Given the description of an element on the screen output the (x, y) to click on. 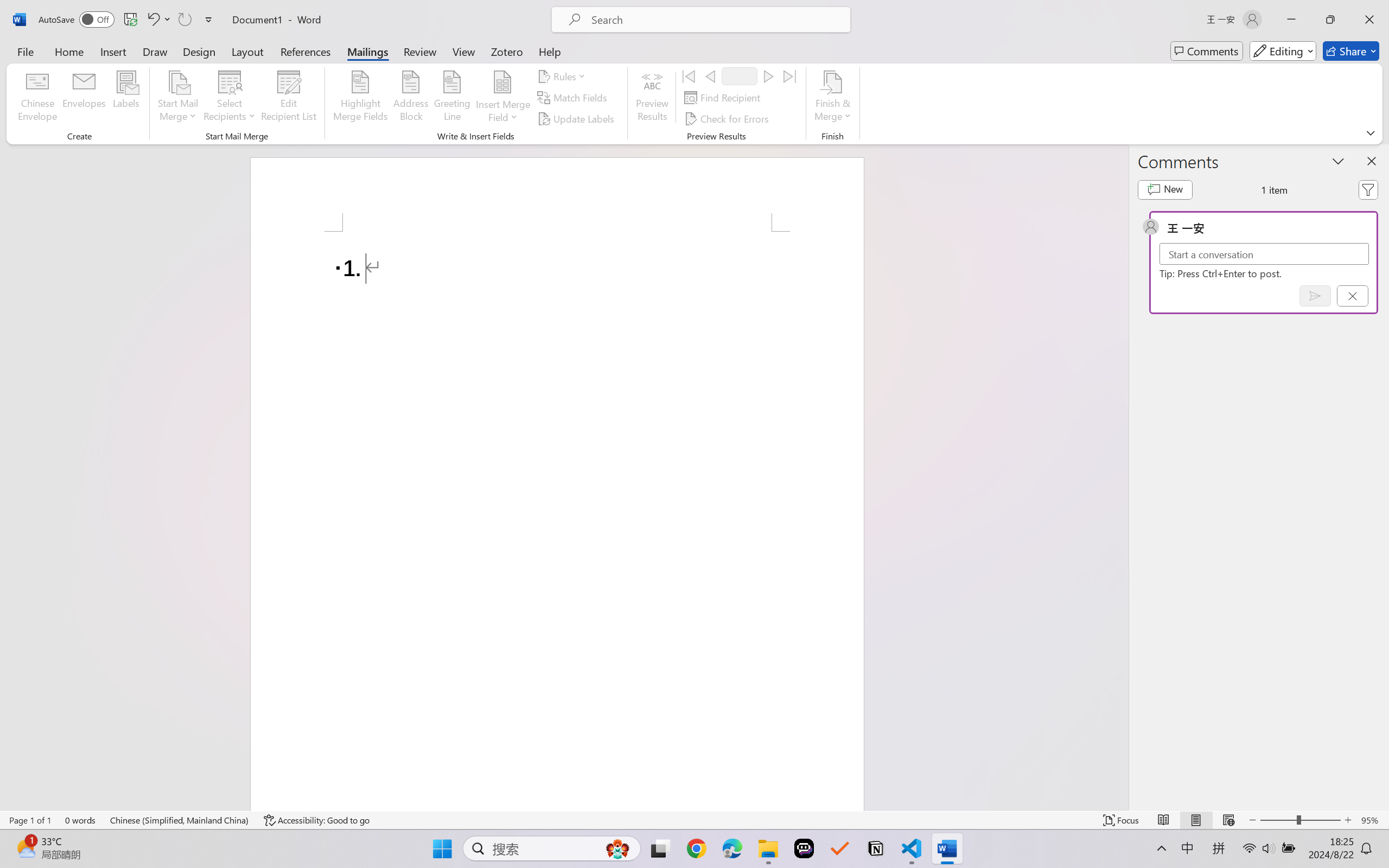
Preview Results (652, 97)
Highlight Merge Fields (360, 97)
Start Mail Merge (177, 97)
First (688, 75)
Greeting Line... (451, 97)
